Given the description of an element on the screen output the (x, y) to click on. 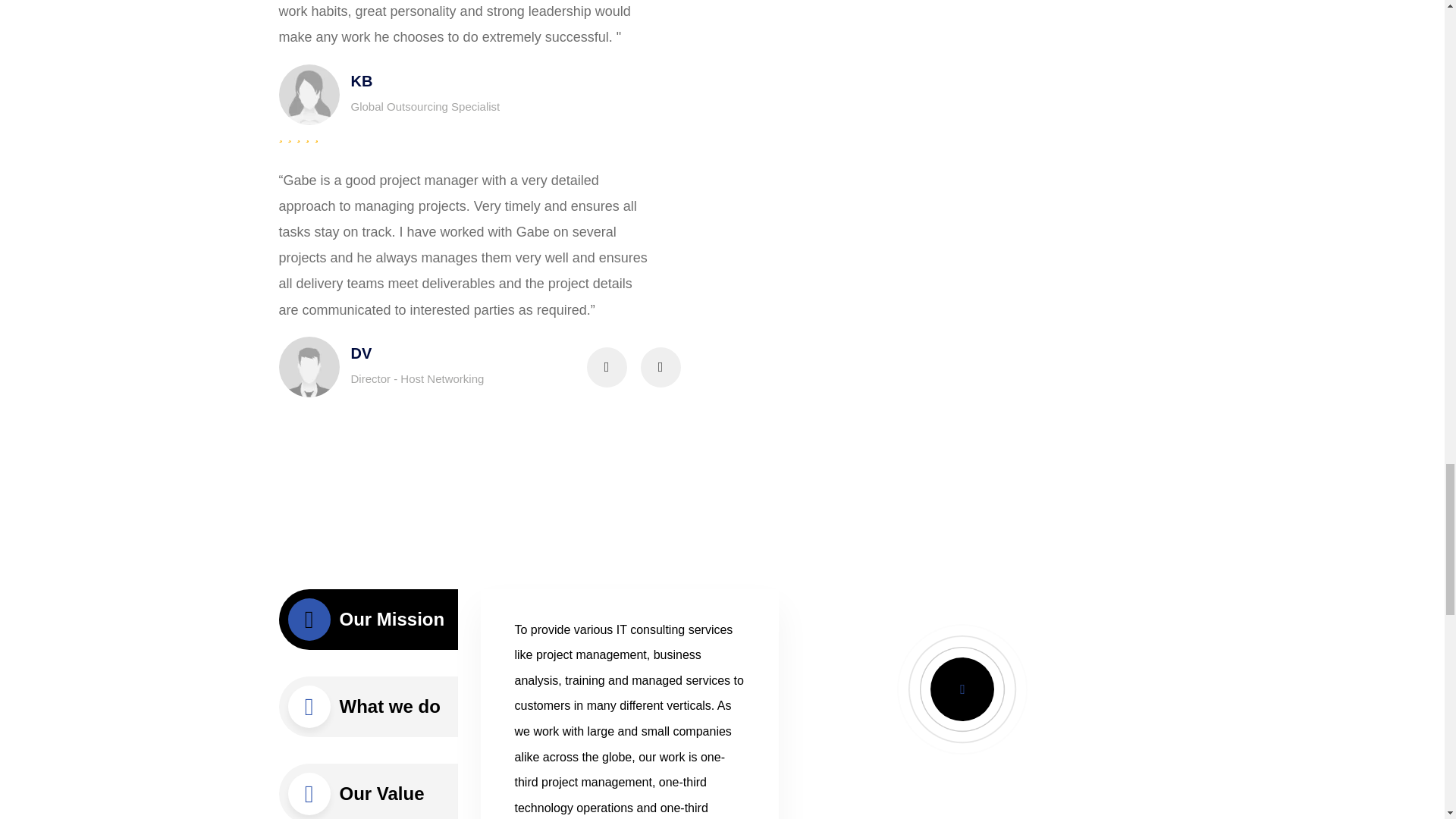
Previous (606, 367)
person-gray-photo-placeholder-woman-vector-23503792 (309, 94)
Next (659, 367)
